Given the description of an element on the screen output the (x, y) to click on. 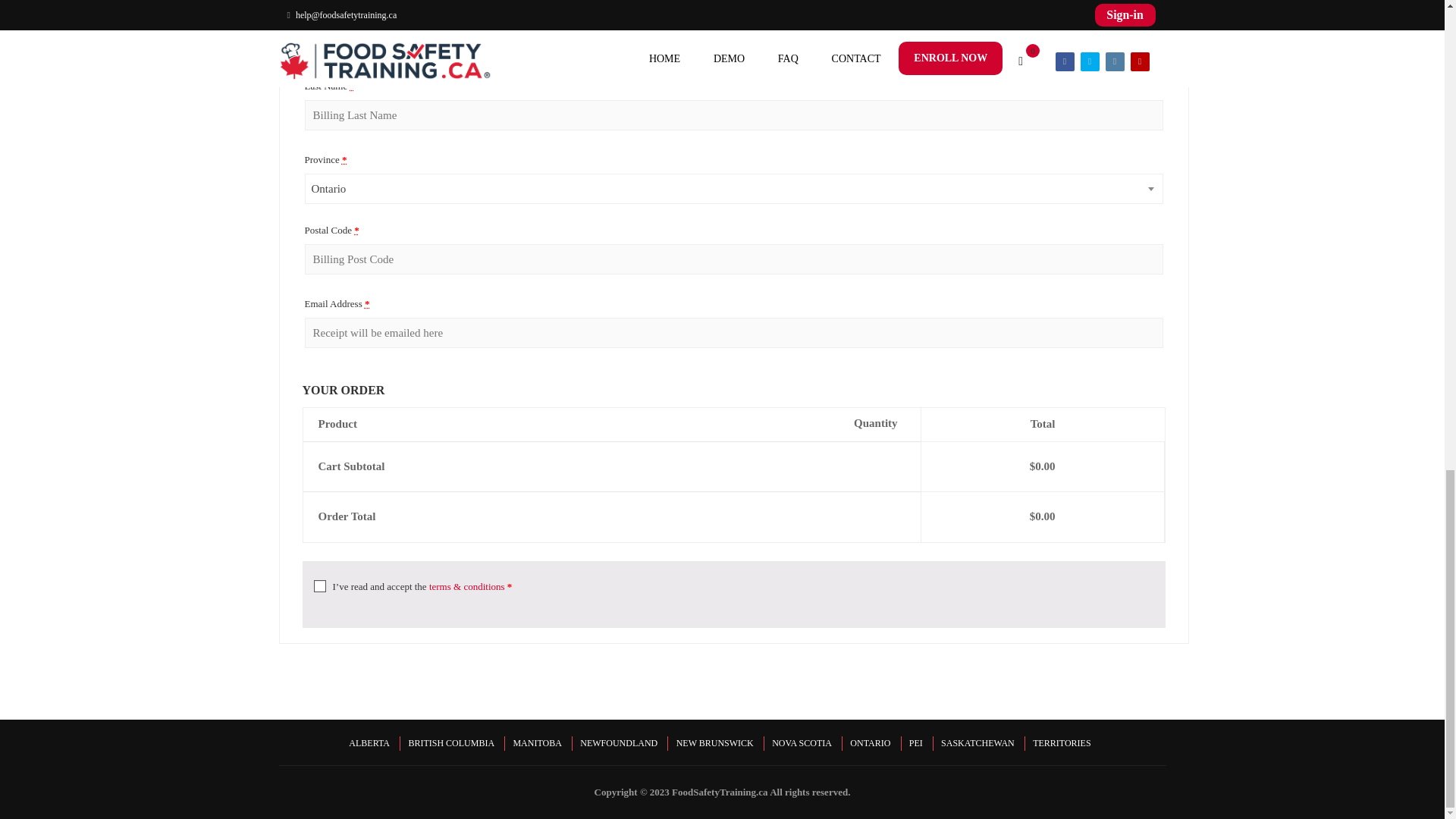
on (320, 585)
